Given the description of an element on the screen output the (x, y) to click on. 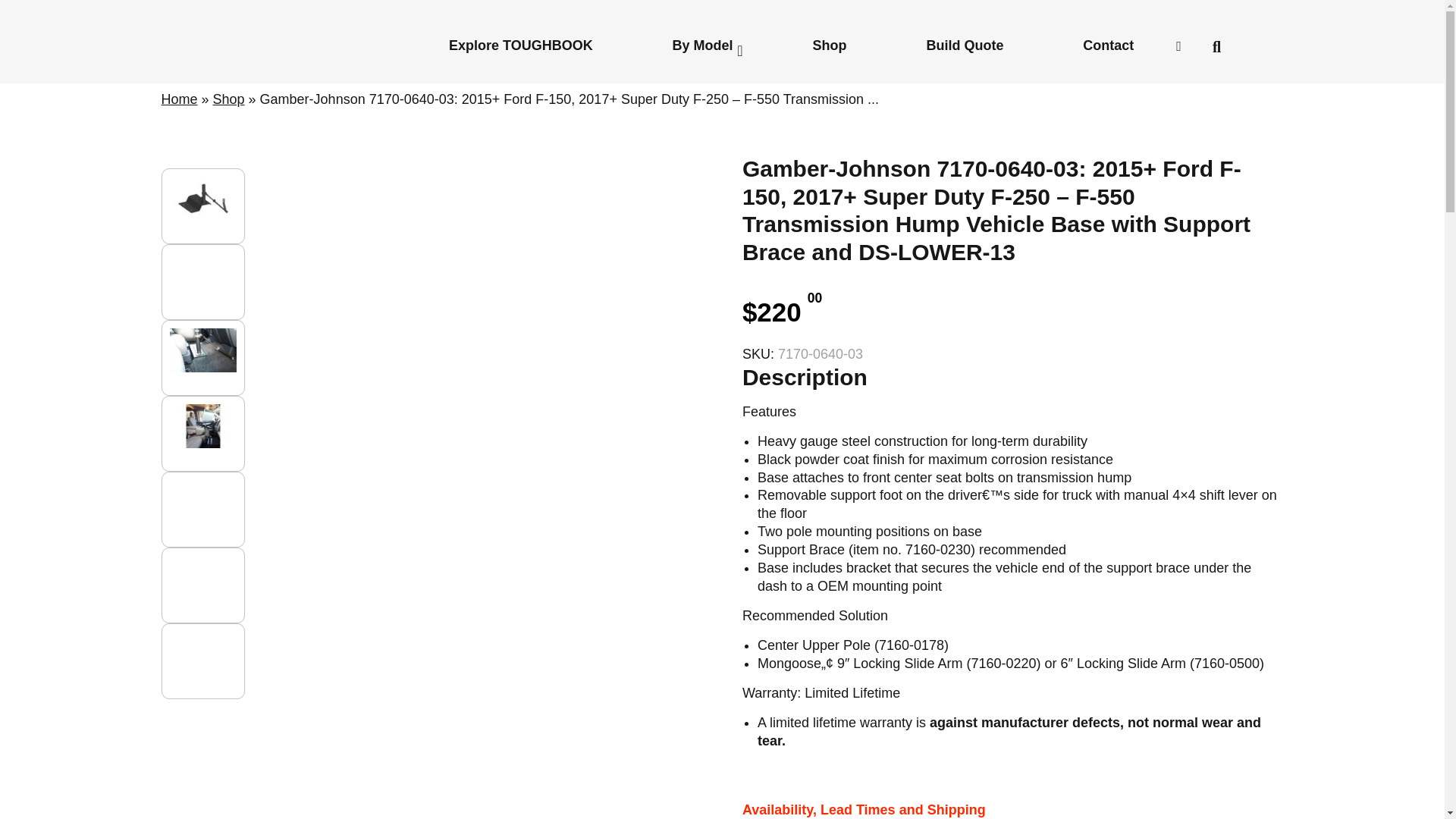
Shop (228, 99)
Contact (1107, 45)
Home (178, 99)
Build Quote (964, 45)
By Model (702, 45)
7160-0220 (1003, 663)
Shop (829, 45)
7160-0178 (911, 645)
7160-0500 (1226, 663)
Explore TOUGHBOOK (520, 45)
